Given the description of an element on the screen output the (x, y) to click on. 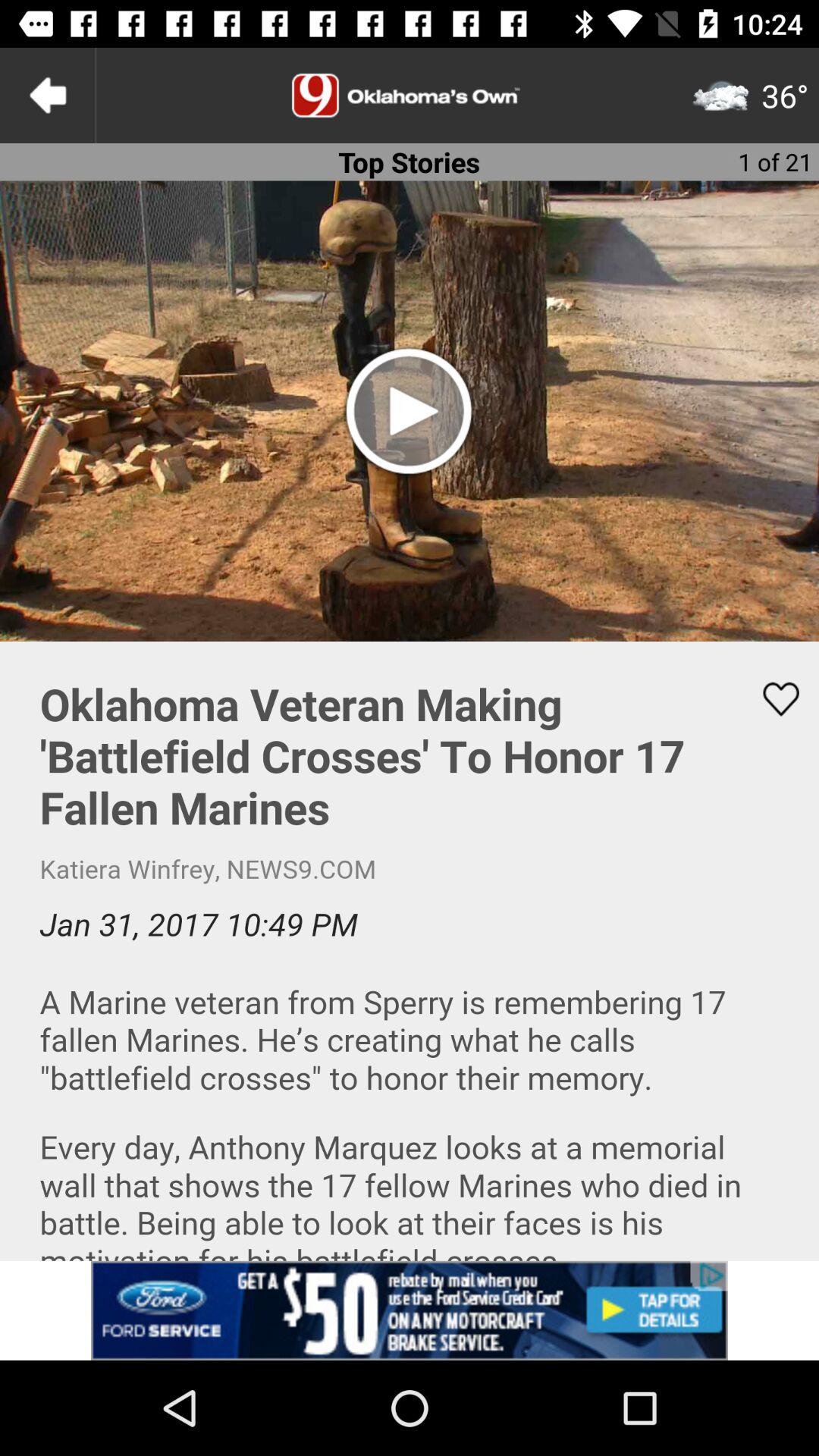
go to the previous (47, 95)
